Given the description of an element on the screen output the (x, y) to click on. 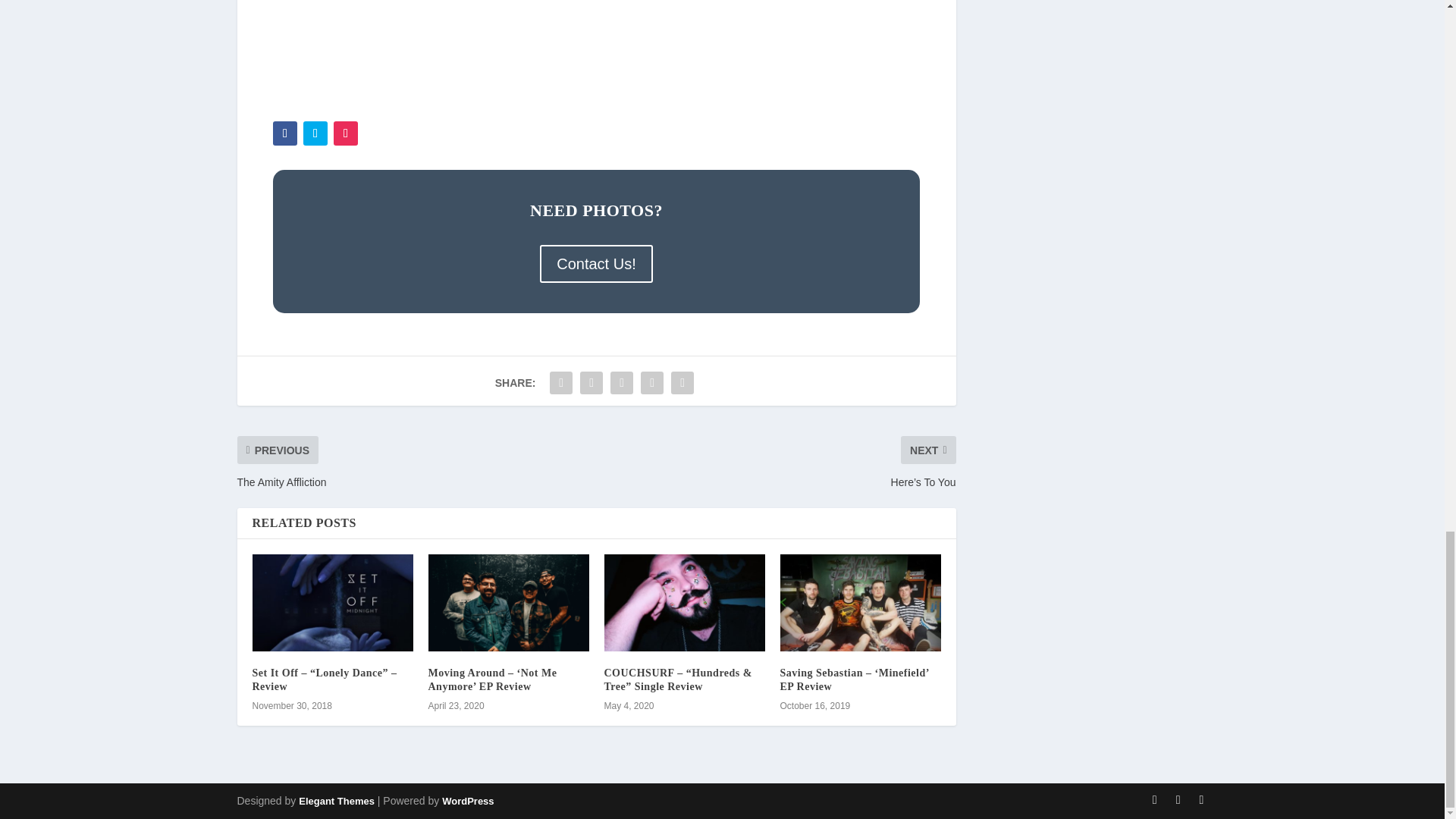
Follow on Twitter (314, 133)
Above A Whisper - Never Let Go (596, 52)
Follow on Instagram (345, 133)
Premium WordPress Themes (336, 800)
Contact Us! (596, 263)
Follow on Facebook (285, 133)
